Given the description of an element on the screen output the (x, y) to click on. 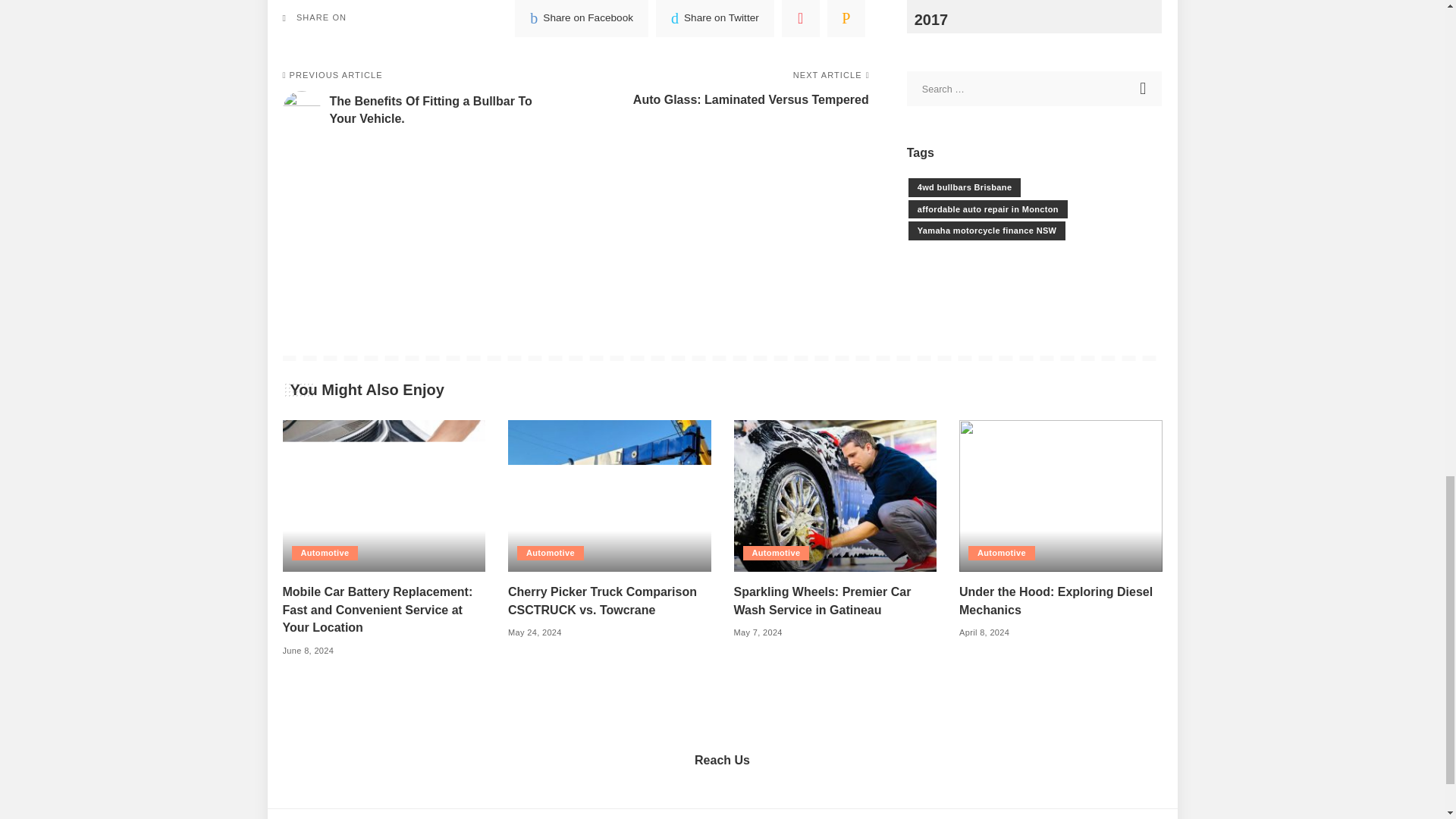
Search (1143, 88)
Search (1143, 88)
